Given the description of an element on the screen output the (x, y) to click on. 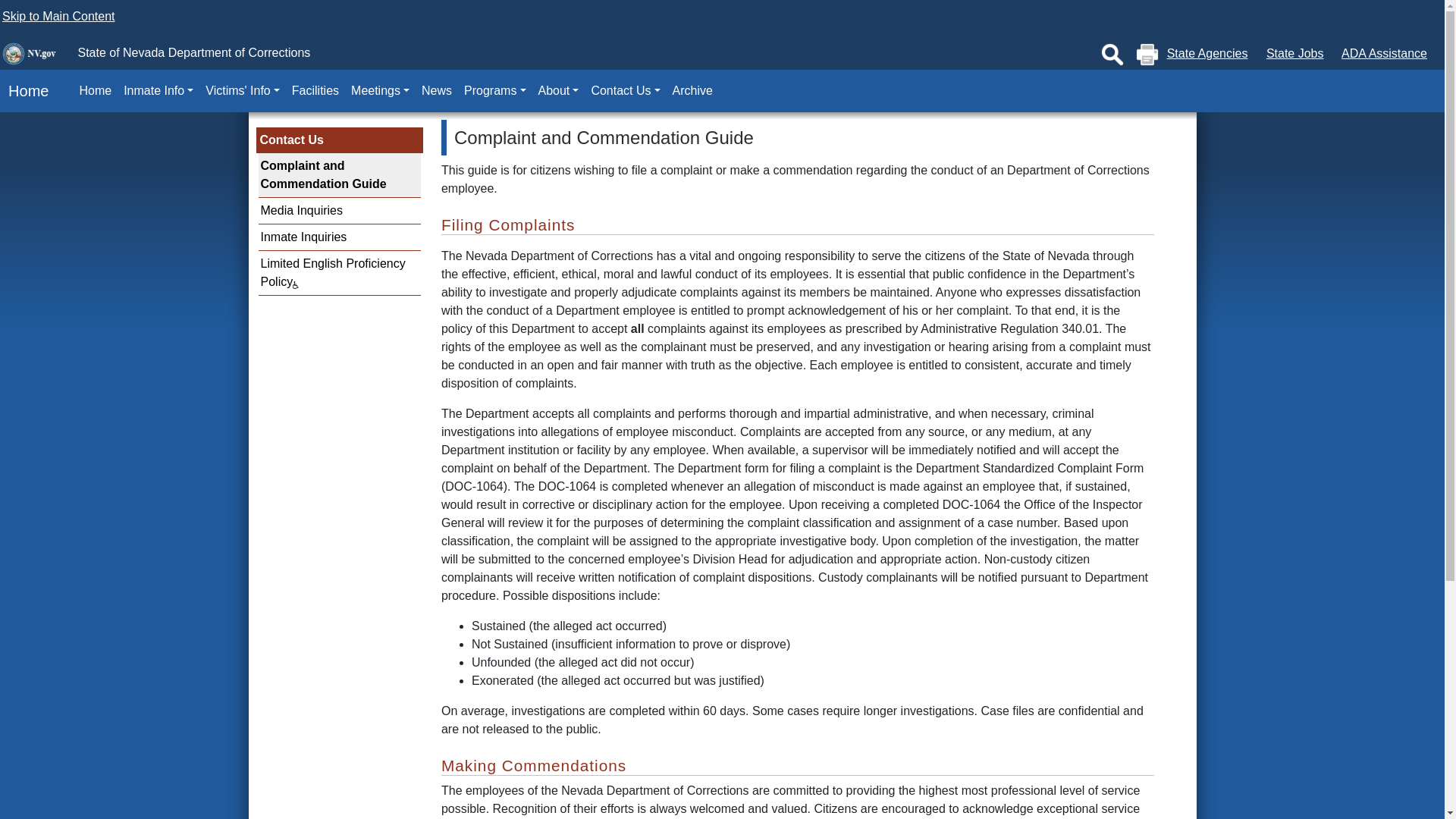
Search (1112, 54)
  Home (24, 90)
State Agencies (1207, 52)
Print (1147, 54)
State Jobs (1294, 52)
Home (94, 91)
Print (1146, 54)
ADA Assistance (1383, 52)
Inmate Info (158, 91)
Victims' Info (242, 91)
Facilities (315, 91)
Search (1112, 54)
Americans With Disabilities Act (1383, 52)
Skip to Main Content (58, 15)
Meetings (379, 91)
